Given the description of an element on the screen output the (x, y) to click on. 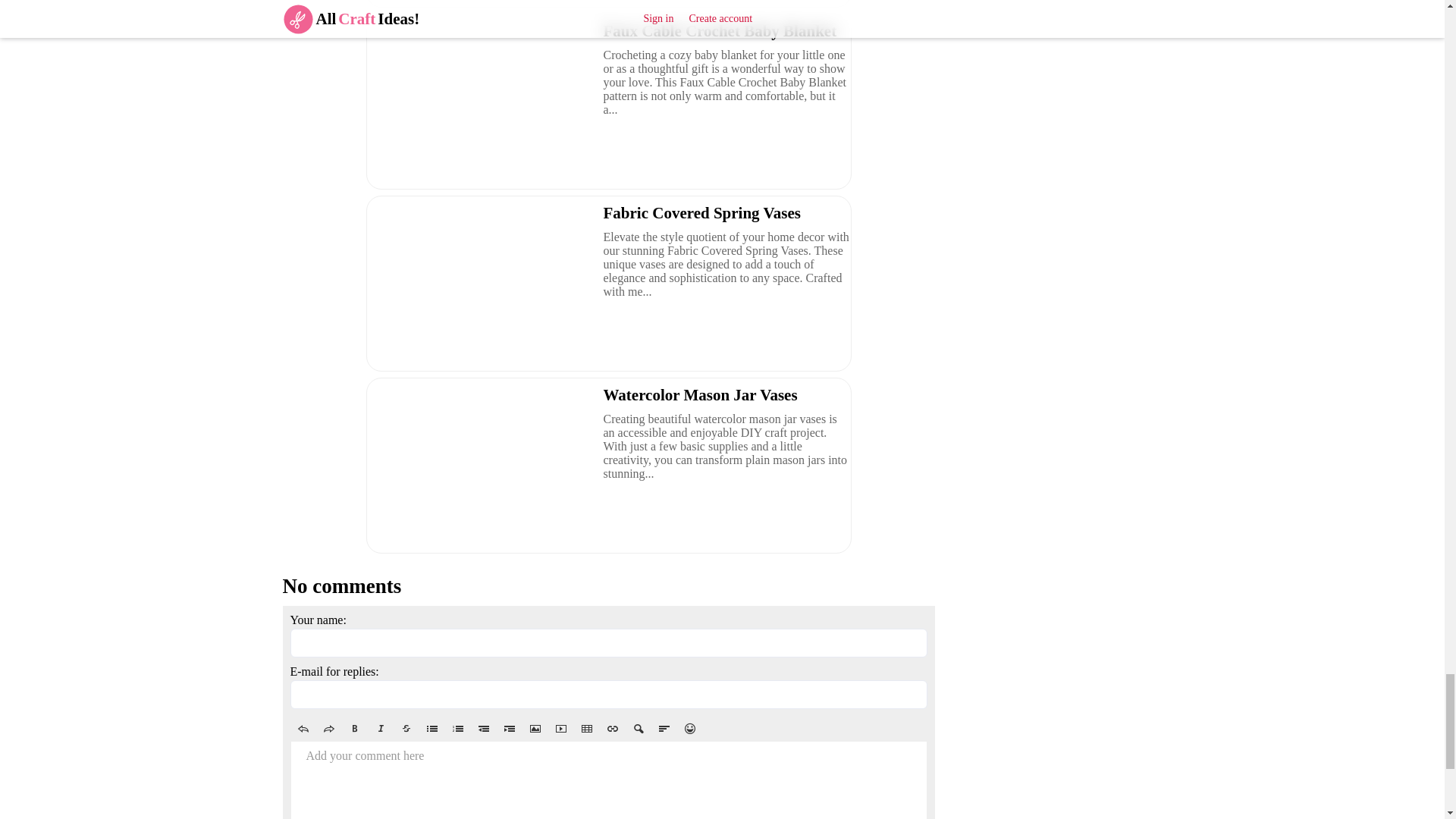
Insert Image (534, 728)
Insert Video (560, 728)
Link (611, 728)
Redo (327, 728)
Undo (302, 728)
Table (585, 728)
Italic (379, 728)
Deleted (406, 728)
Bold (353, 728)
1. Ordered List (457, 728)
